Given the description of an element on the screen output the (x, y) to click on. 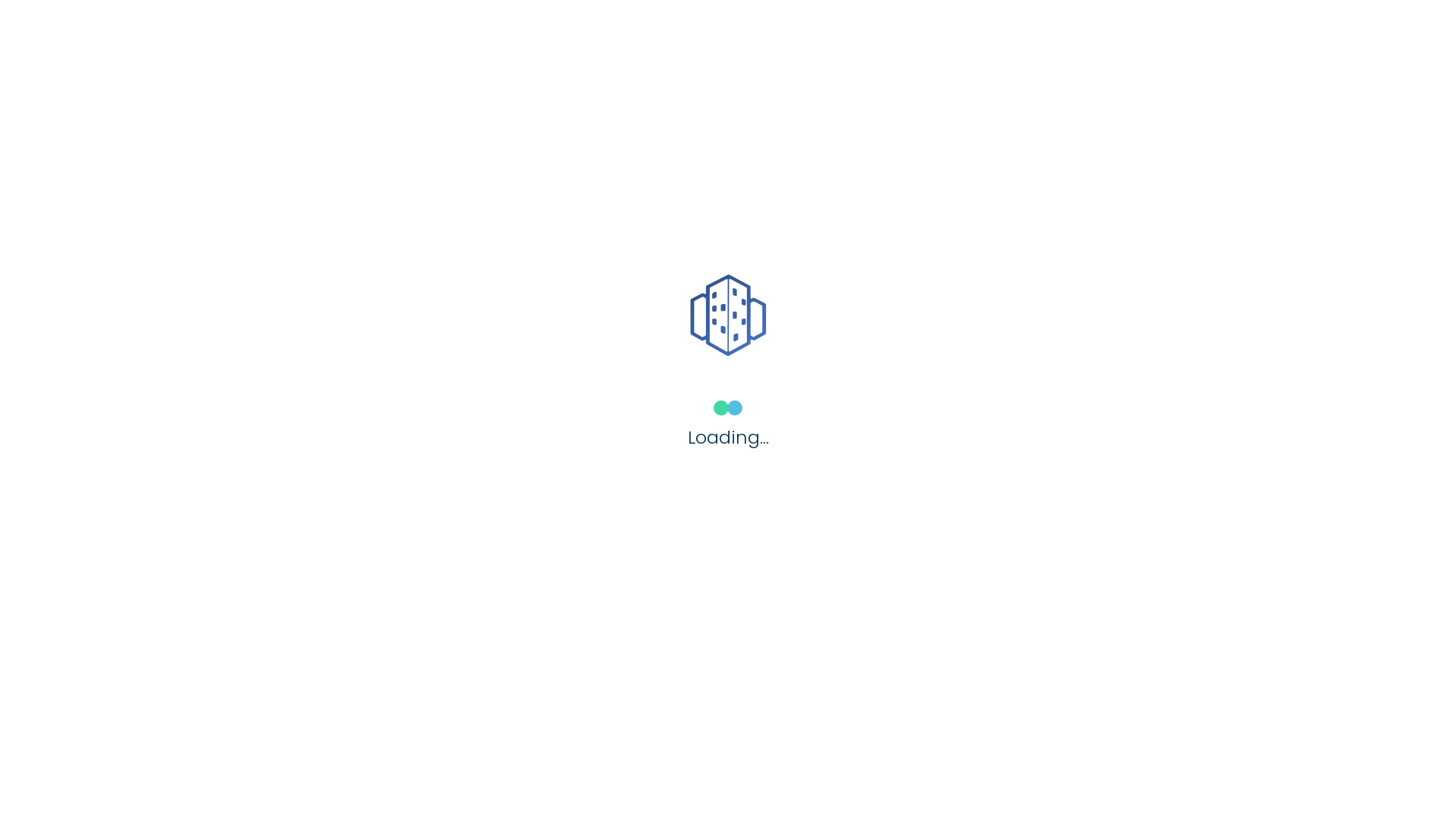
browse our product videos Element type: text (625, 197)
Natuurlijk Kapitaal Model Element type: text (860, 711)
Groene Baten Planner Element type: text (544, 274)
CONTINUE ANYWAY Element type: text (583, 224)
OKAY, THANKS Element type: text (643, 119)
FIND OUT MORE Element type: text (809, 118)
